Given the description of an element on the screen output the (x, y) to click on. 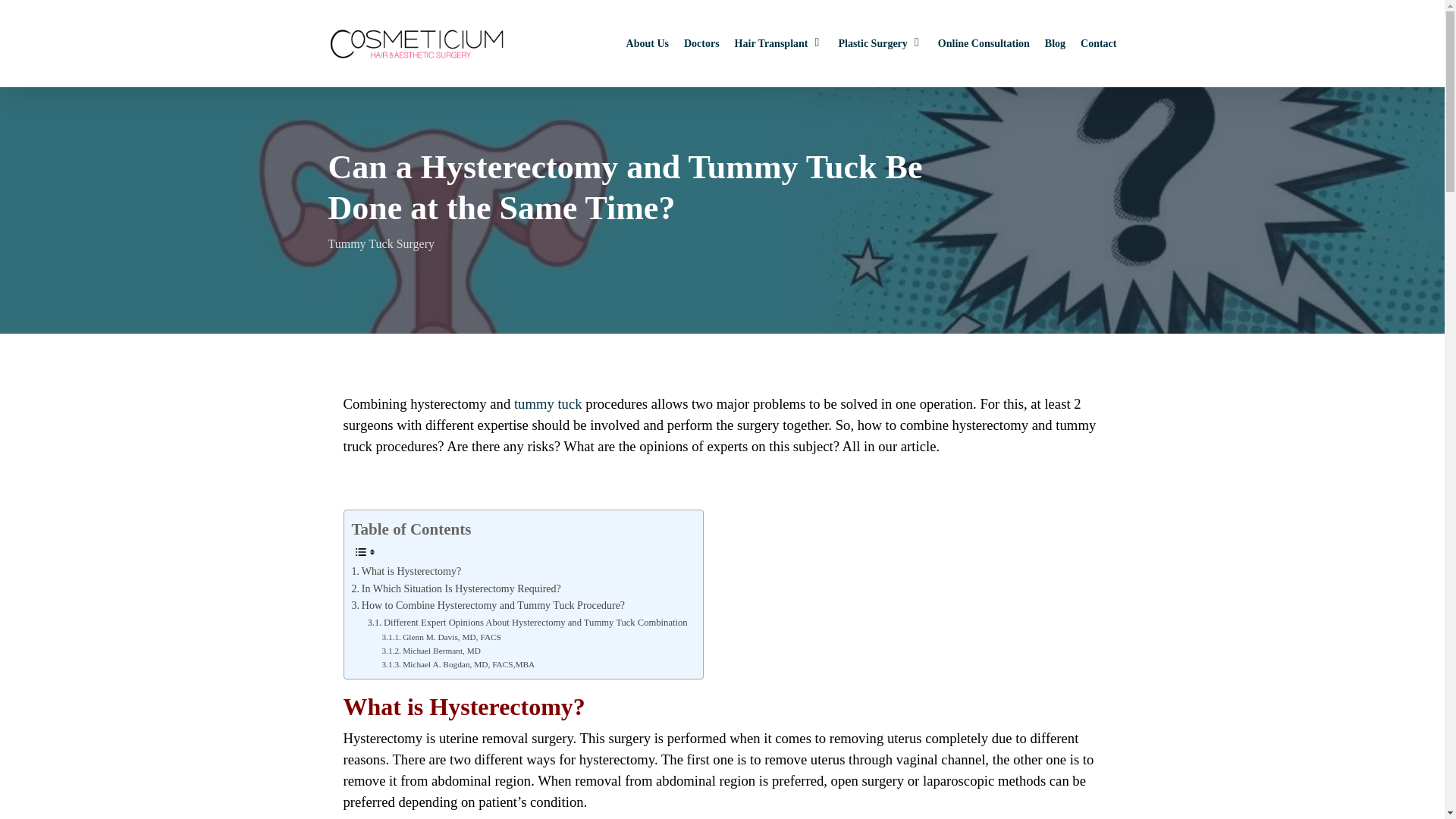
Plastic Surgery (879, 43)
Glenn M. Davis, MD, FACS (440, 636)
In Which Situation Is Hysterectomy Required? (456, 588)
Michael A. Bogdan, MD, FACS,MBA (457, 663)
Doctors (701, 43)
About Us (647, 43)
Hair Transplant (779, 43)
What is Hysterectomy? (406, 571)
Michael Bermant, MD (430, 650)
How to Combine Hysterectomy and Tummy Tuck Procedure? (489, 605)
